Given the description of an element on the screen output the (x, y) to click on. 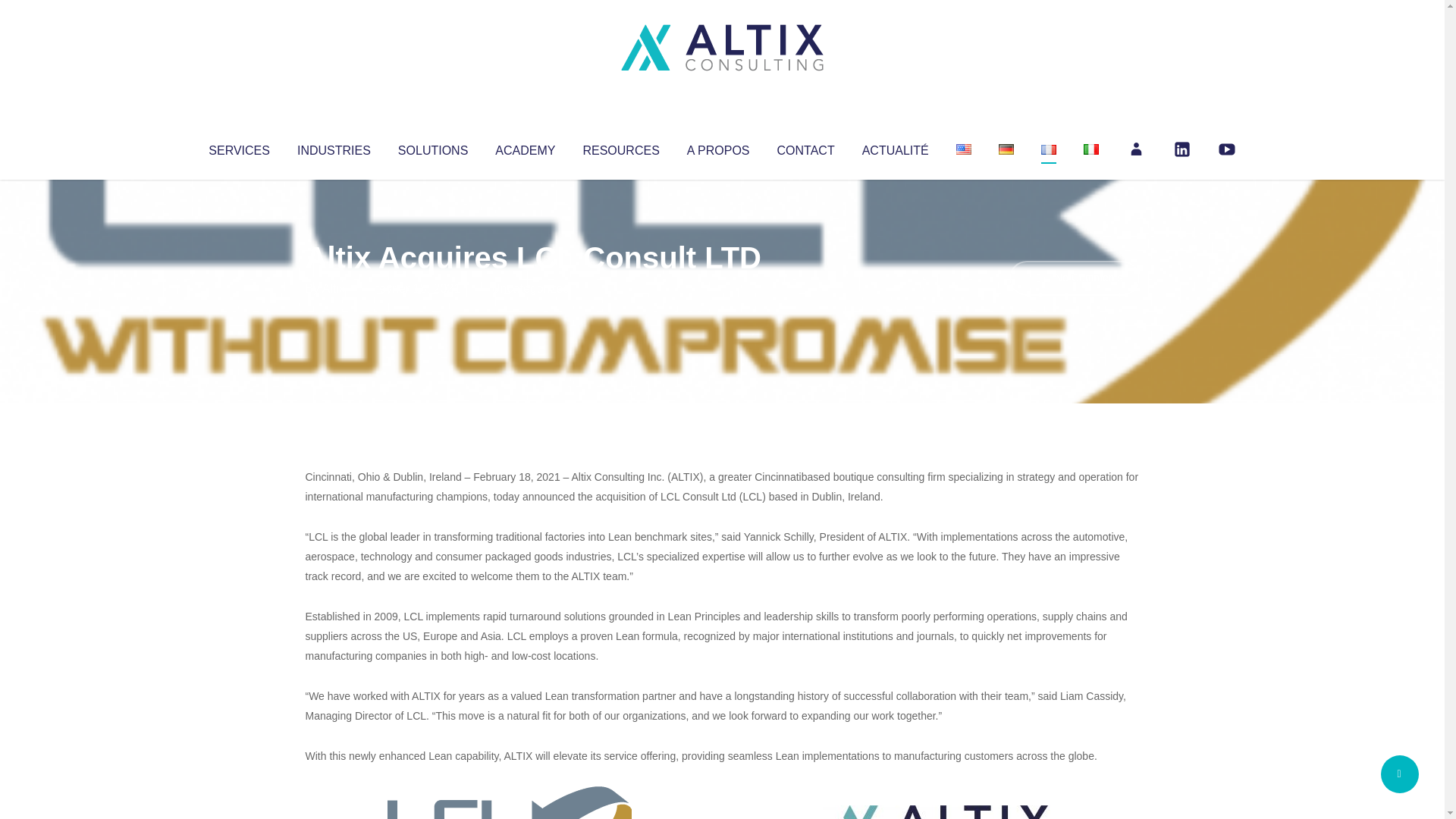
SOLUTIONS (432, 146)
RESOURCES (620, 146)
Uncategorized (530, 287)
Altix (333, 287)
No Comments (1073, 278)
ACADEMY (524, 146)
INDUSTRIES (334, 146)
SERVICES (238, 146)
A PROPOS (718, 146)
Articles par Altix (333, 287)
